Given the description of an element on the screen output the (x, y) to click on. 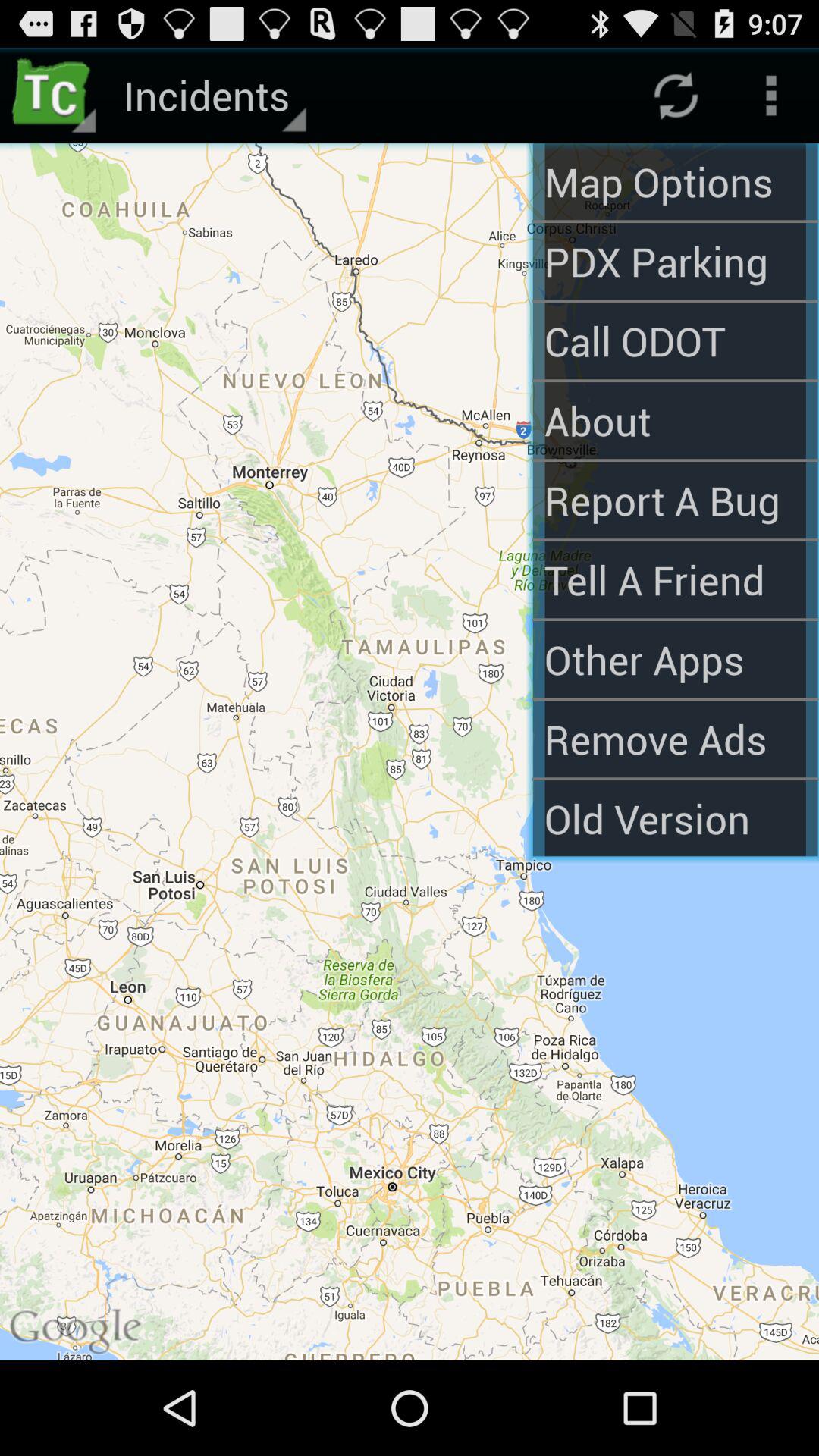
tap pdx parking item (675, 260)
